Given the description of an element on the screen output the (x, y) to click on. 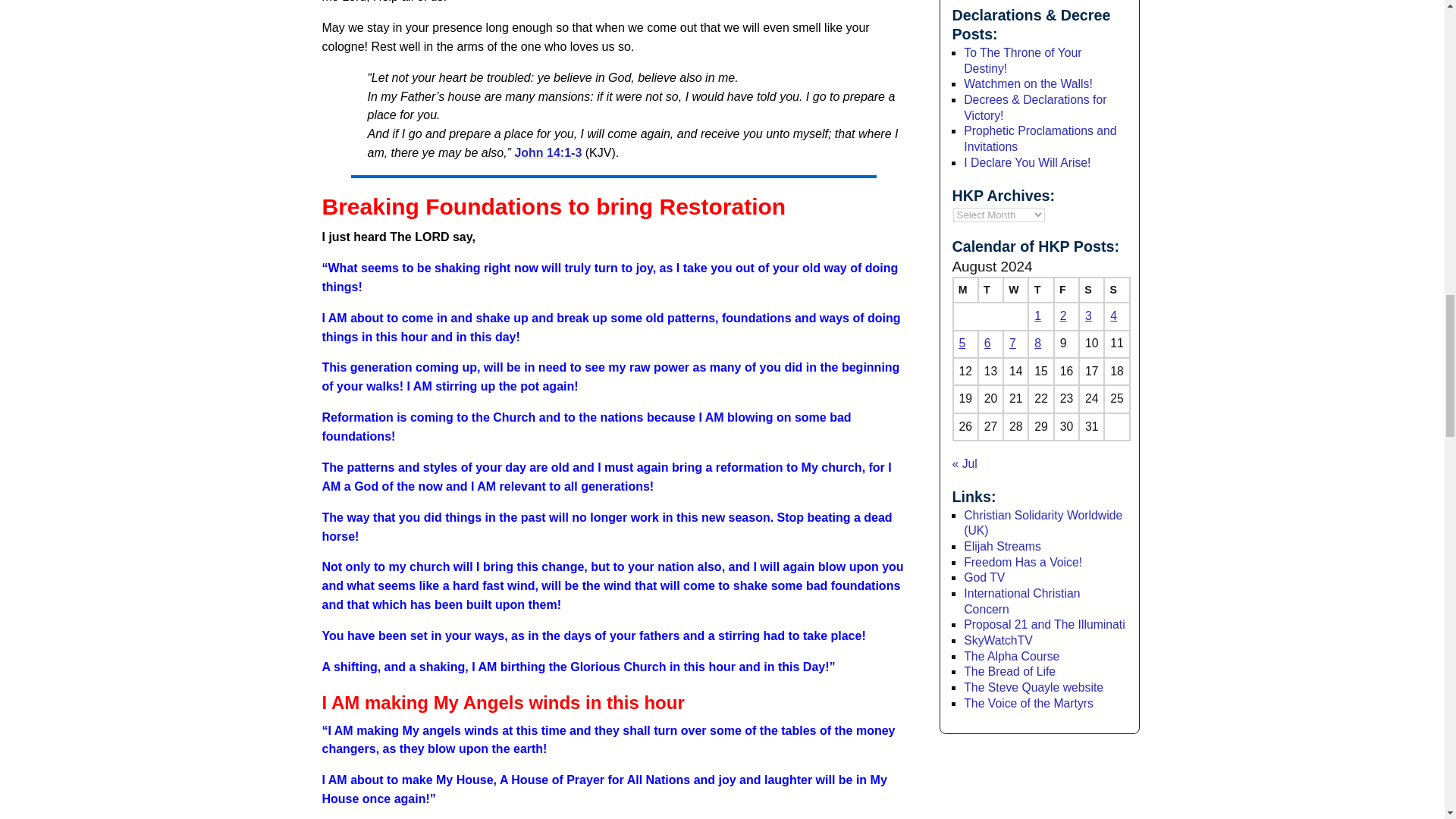
Monday (964, 289)
Thursday (1039, 289)
Tuesday (990, 289)
Friday (1066, 289)
Saturday (1090, 289)
Wednesday (1015, 289)
